Given the description of an element on the screen output the (x, y) to click on. 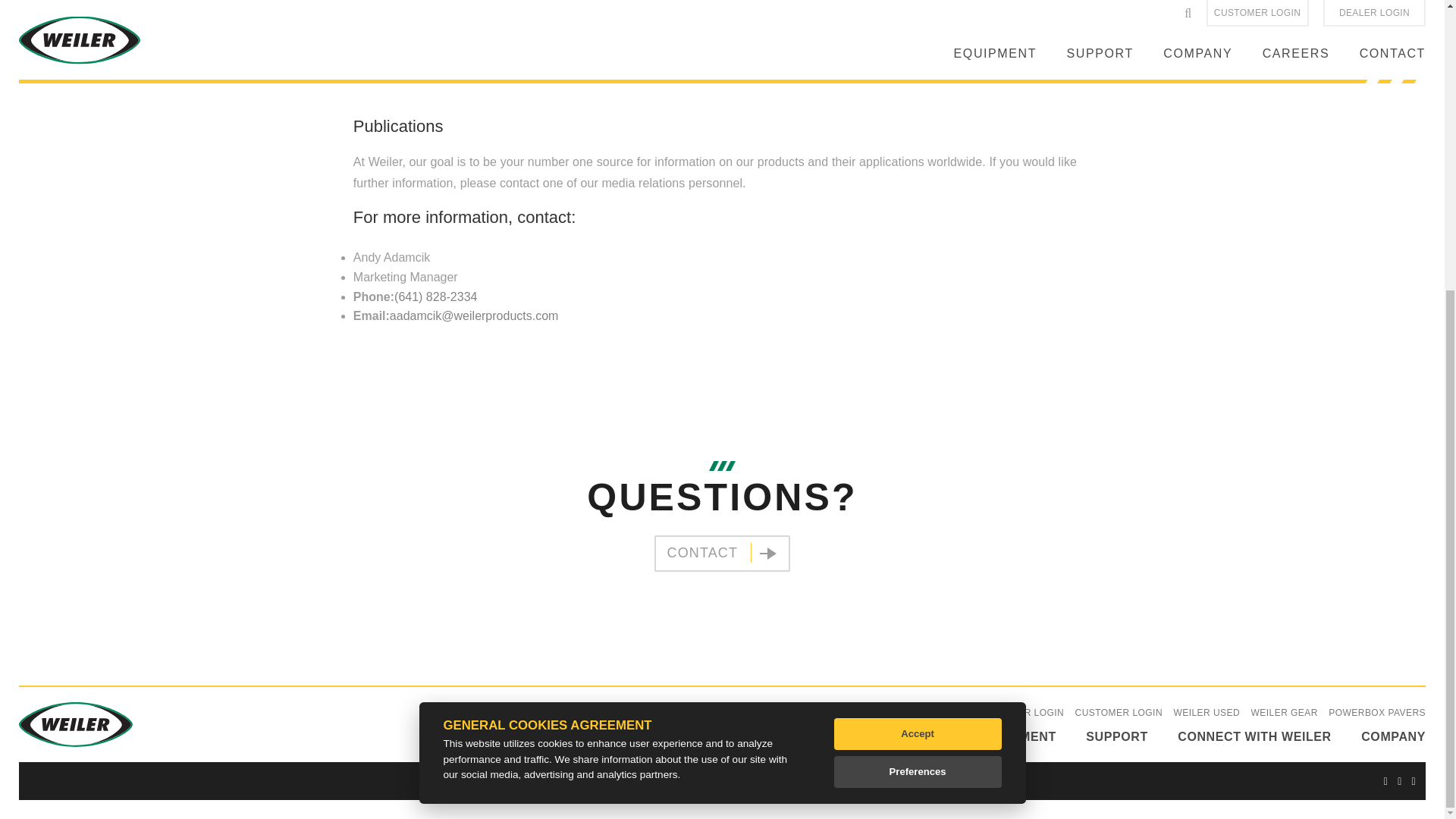
WEILER GEAR (1283, 712)
CUSTOMER LOGIN (1118, 712)
CONTACT (721, 553)
DEALER LOGIN (1028, 712)
WEILER USED (1206, 712)
